Given the description of an element on the screen output the (x, y) to click on. 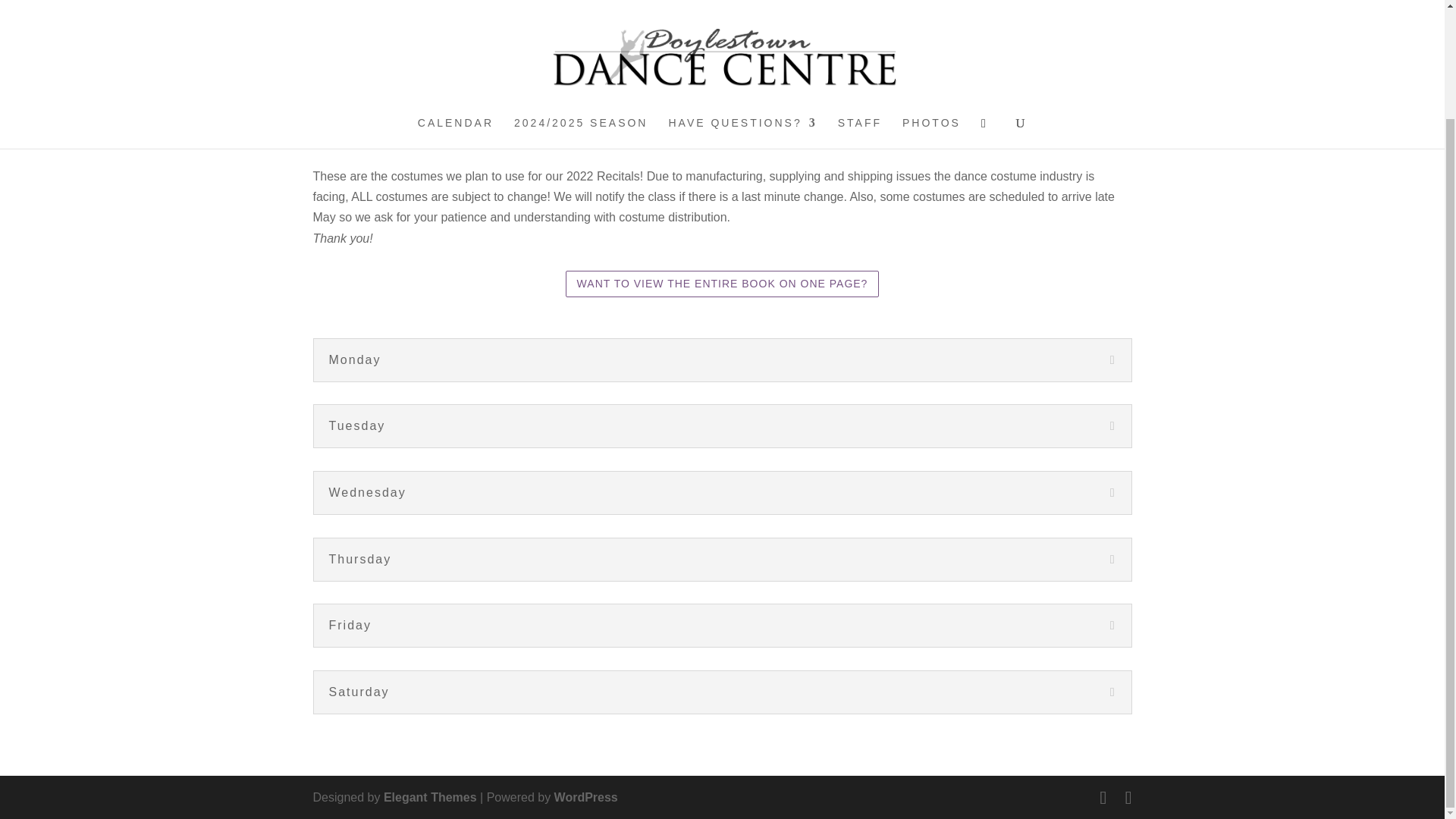
WANT TO VIEW THE ENTIRE BOOK ON ONE PAGE? (722, 283)
CALENDAR (455, 10)
PHOTOS (931, 10)
HAVE QUESTIONS? (742, 10)
STAFF (860, 10)
